Given the description of an element on the screen output the (x, y) to click on. 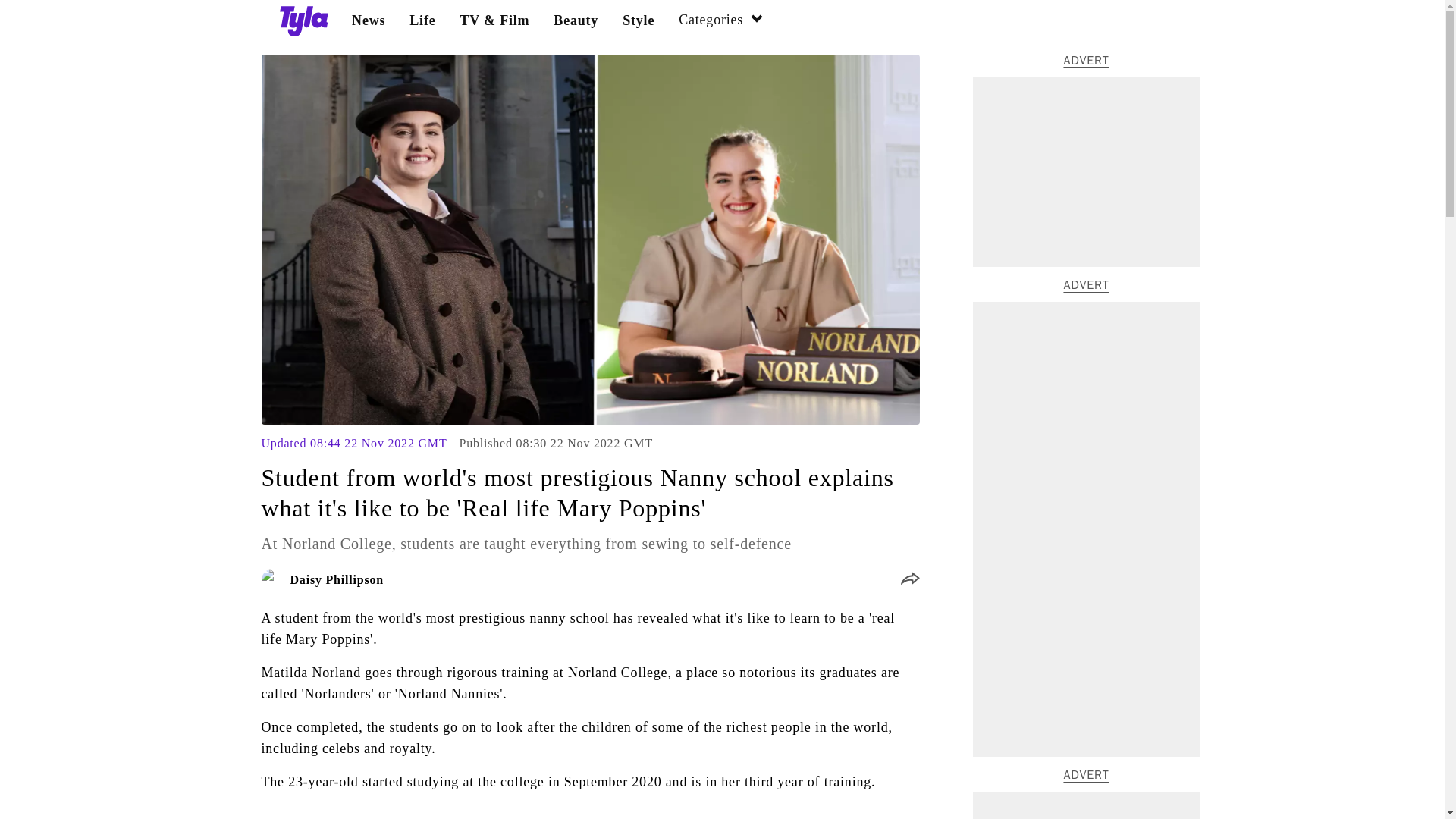
Categories (721, 21)
Beauty (575, 20)
